Given the description of an element on the screen output the (x, y) to click on. 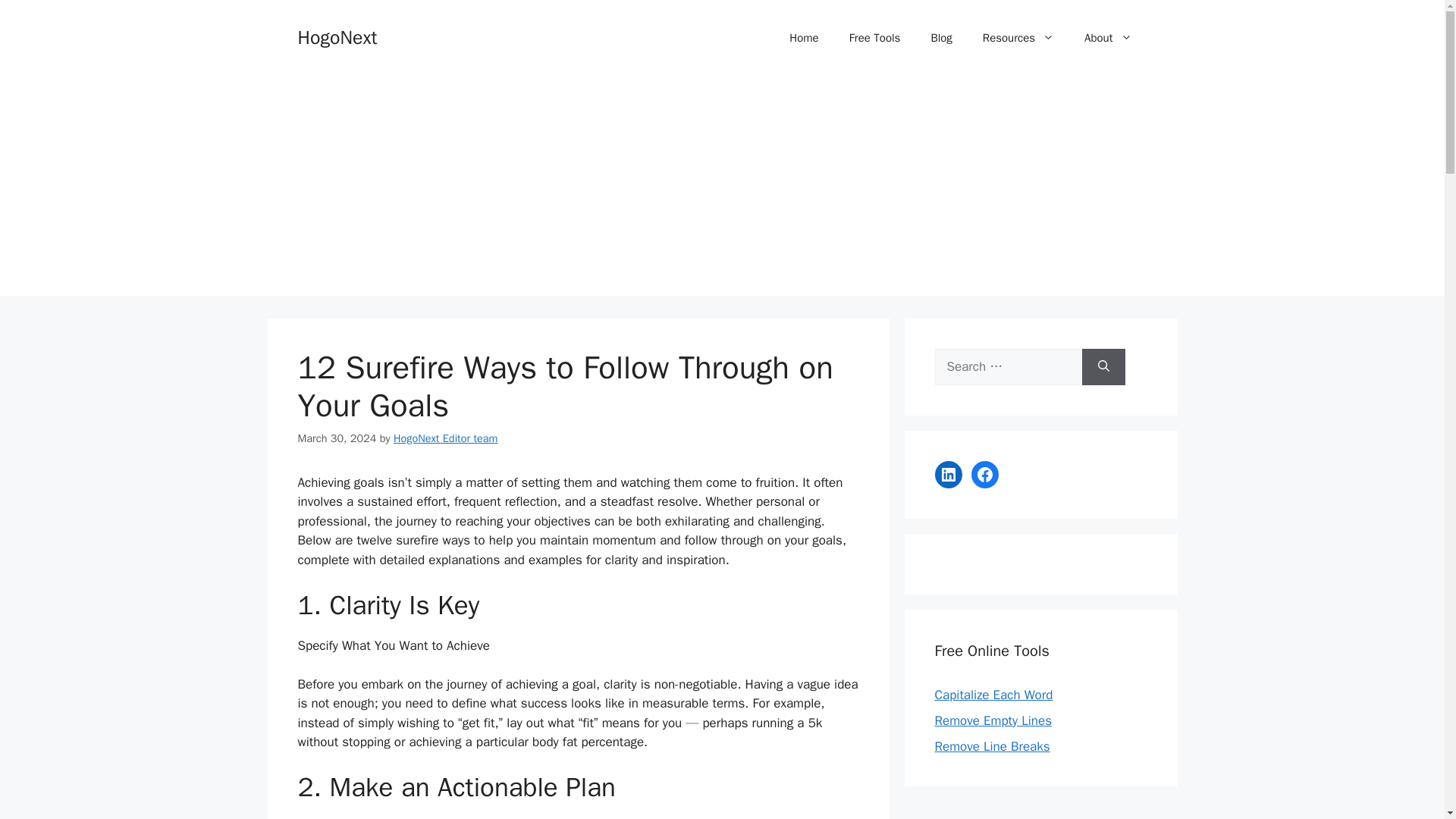
About (1107, 37)
Search for: (1007, 366)
Free Tools (874, 37)
HogoNext Editor team (445, 438)
Home (803, 37)
Advertisement (1040, 810)
Resources (1018, 37)
Blog (940, 37)
View all posts by HogoNext Editor team (445, 438)
HogoNext (337, 37)
